Given the description of an element on the screen output the (x, y) to click on. 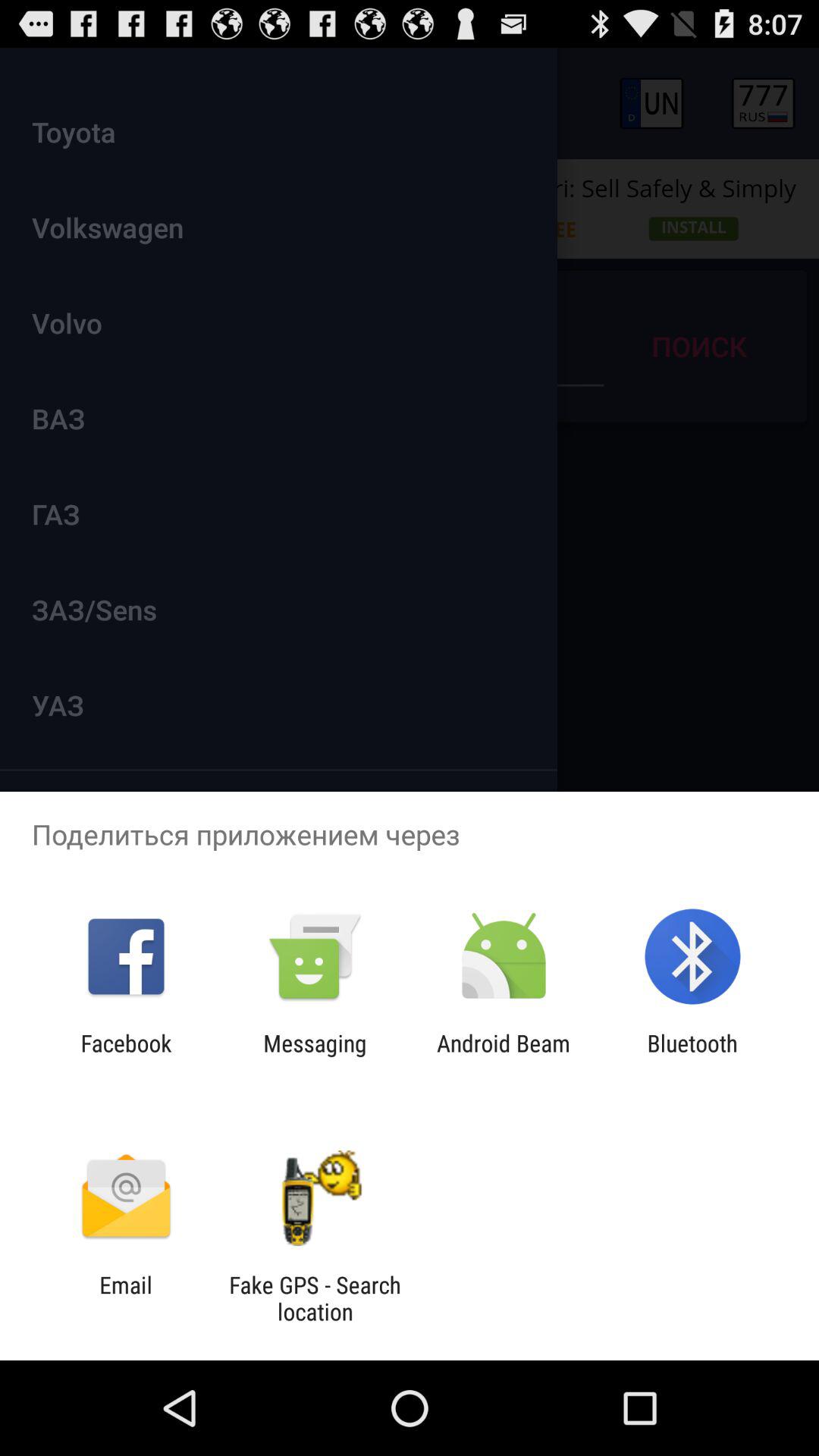
scroll to bluetooth item (692, 1056)
